Given the description of an element on the screen output the (x, y) to click on. 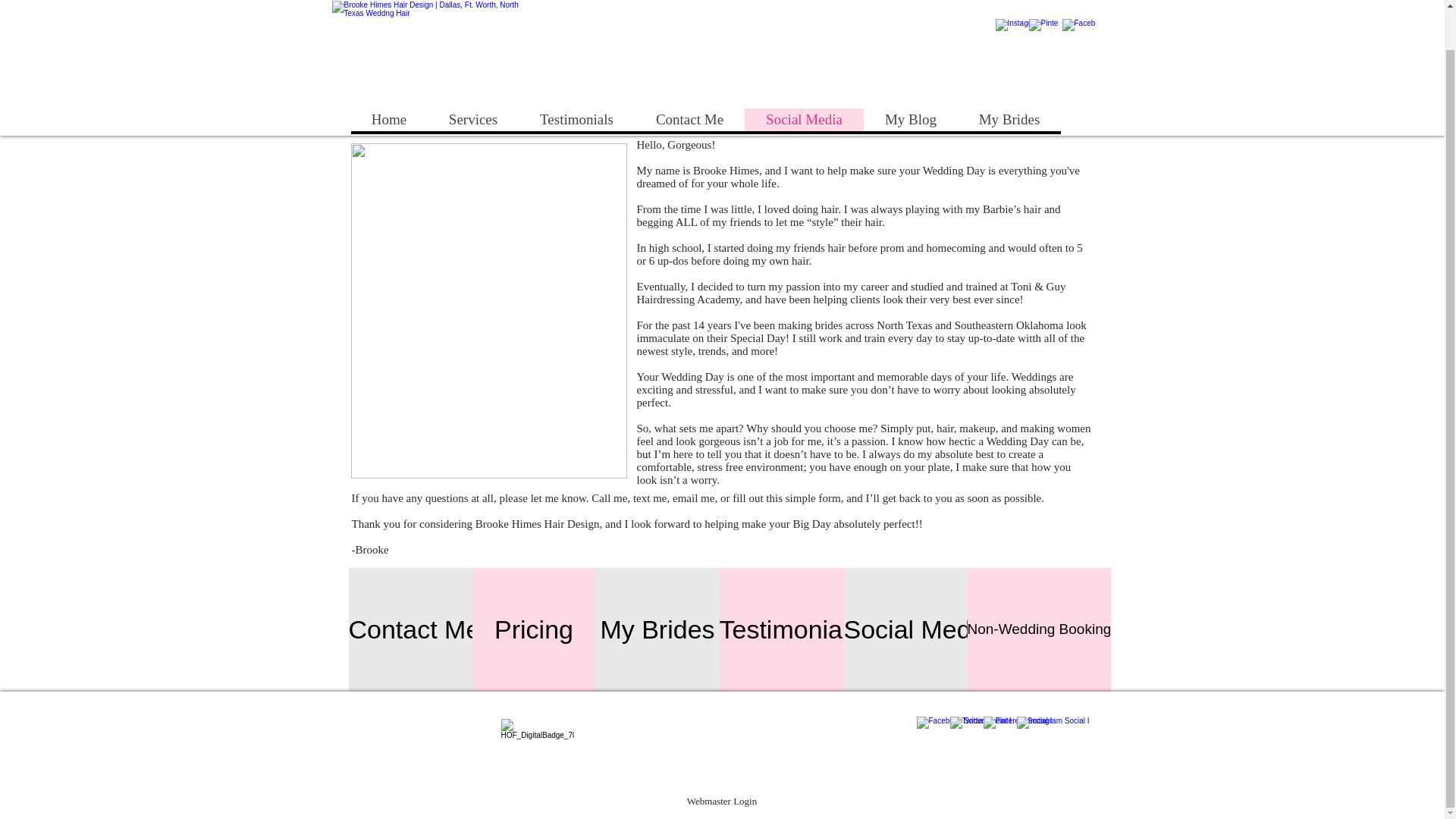
Webmaster Login (722, 801)
Home (388, 77)
My Blog (909, 77)
My Brides (1007, 77)
Contact Me (688, 77)
fill out this simple form (786, 498)
email me (693, 498)
Facebook Like (992, 33)
Contact Me (414, 629)
My Brides (657, 629)
Non-Wedding Booking (1040, 629)
Services (473, 77)
Social Media (917, 629)
Testimonials (789, 629)
Brooke Himes Hair Design (429, 33)
